Given the description of an element on the screen output the (x, y) to click on. 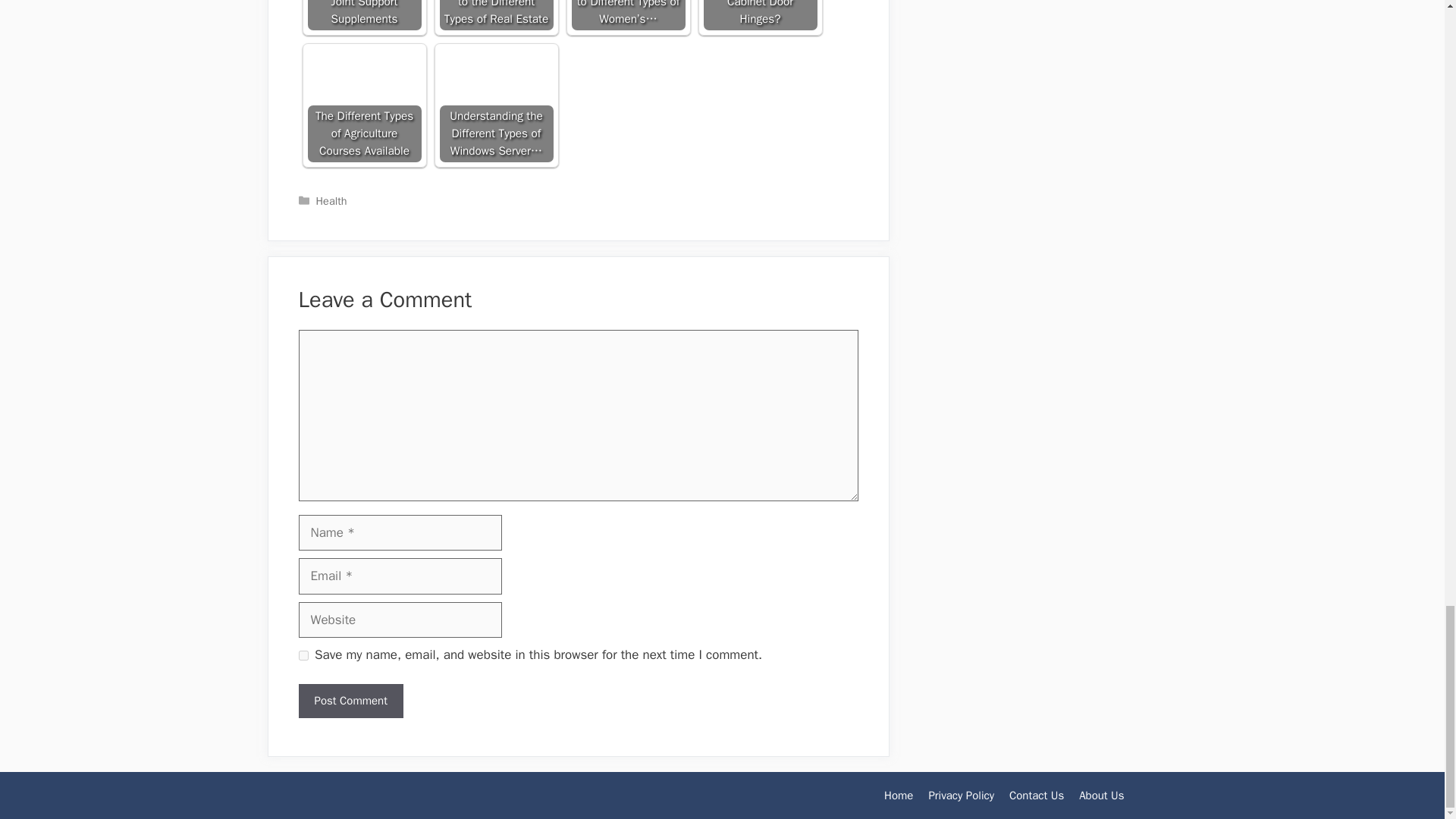
What Are The Different Types Of Cabinet Door Hinges? (759, 15)
Home (897, 795)
Post Comment (350, 700)
Run Fast By Having Joint Support Supplements (364, 15)
Privacy Policy (961, 795)
About Us (1101, 795)
Post Comment (350, 700)
Run Fast By Having Joint Support Supplements (364, 15)
yes (303, 655)
Health (331, 201)
The Different Types of Agriculture Courses Available (364, 105)
An Investor's Guide to the Different Types of Real Estate (496, 15)
Contact Us (1036, 795)
